Given the description of an element on the screen output the (x, y) to click on. 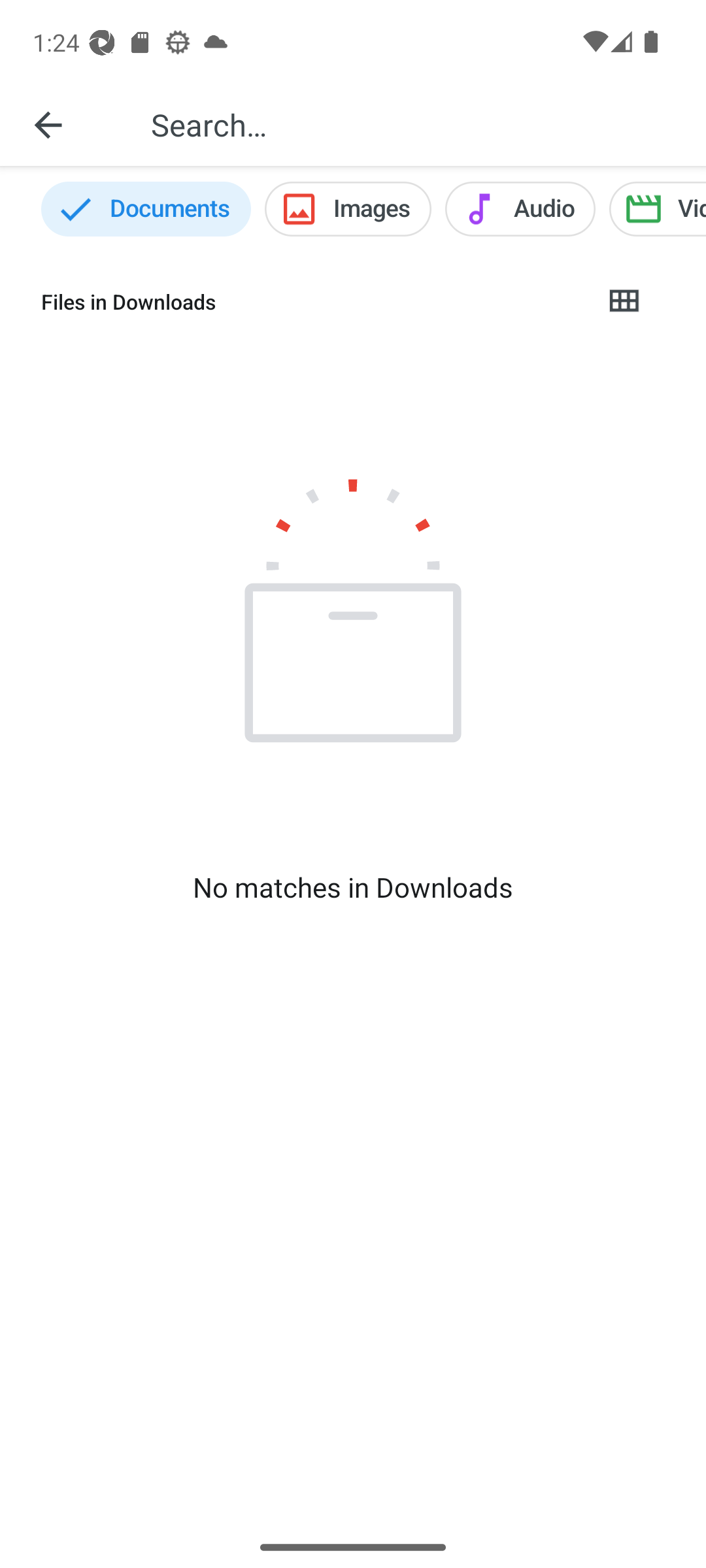
Back (48, 124)
Search… (414, 124)
Documents (145, 208)
Images (347, 208)
Audio (520, 208)
Videos (657, 208)
Grid view (623, 301)
